Given the description of an element on the screen output the (x, y) to click on. 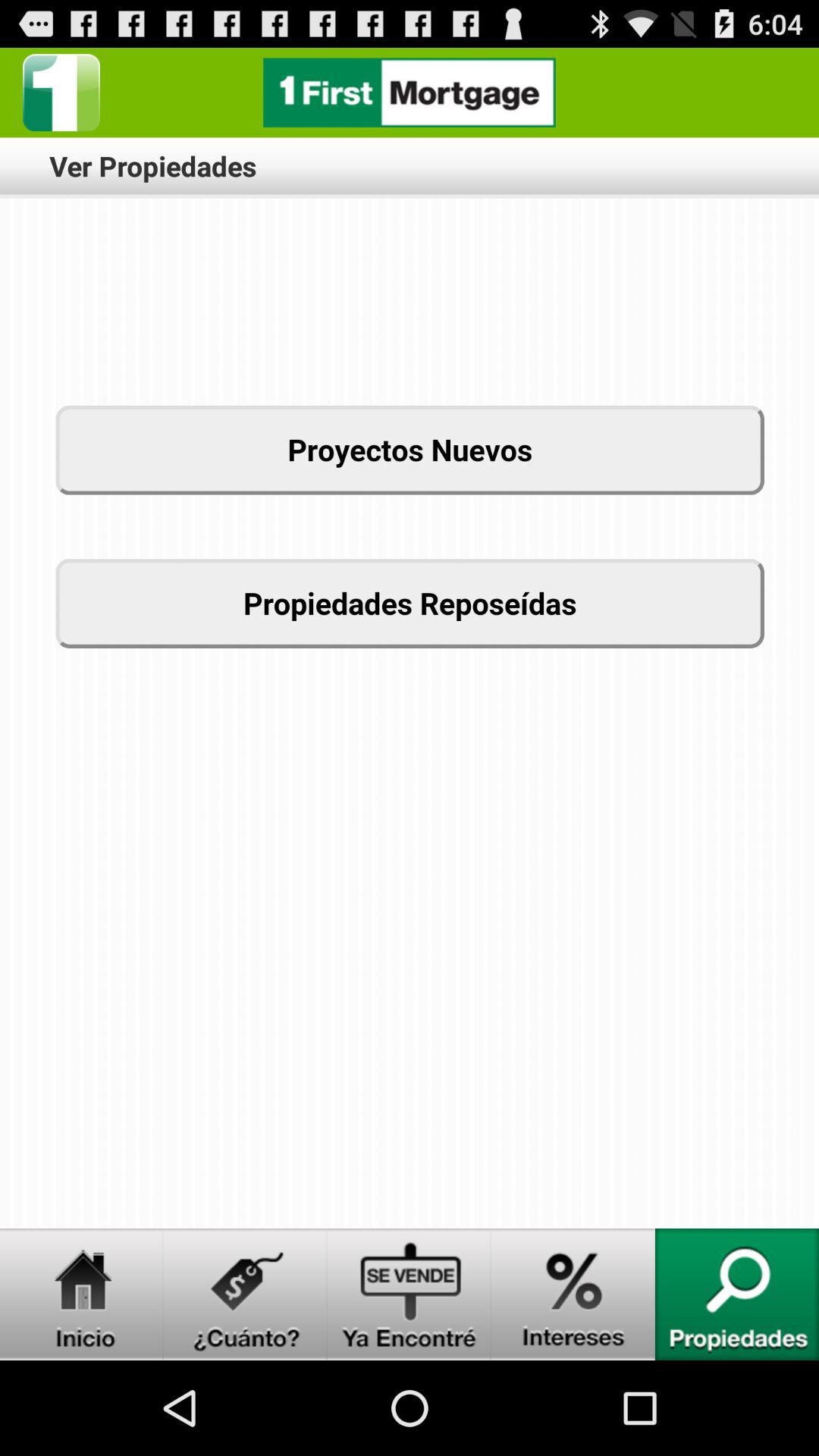
option (61, 92)
